Given the description of an element on the screen output the (x, y) to click on. 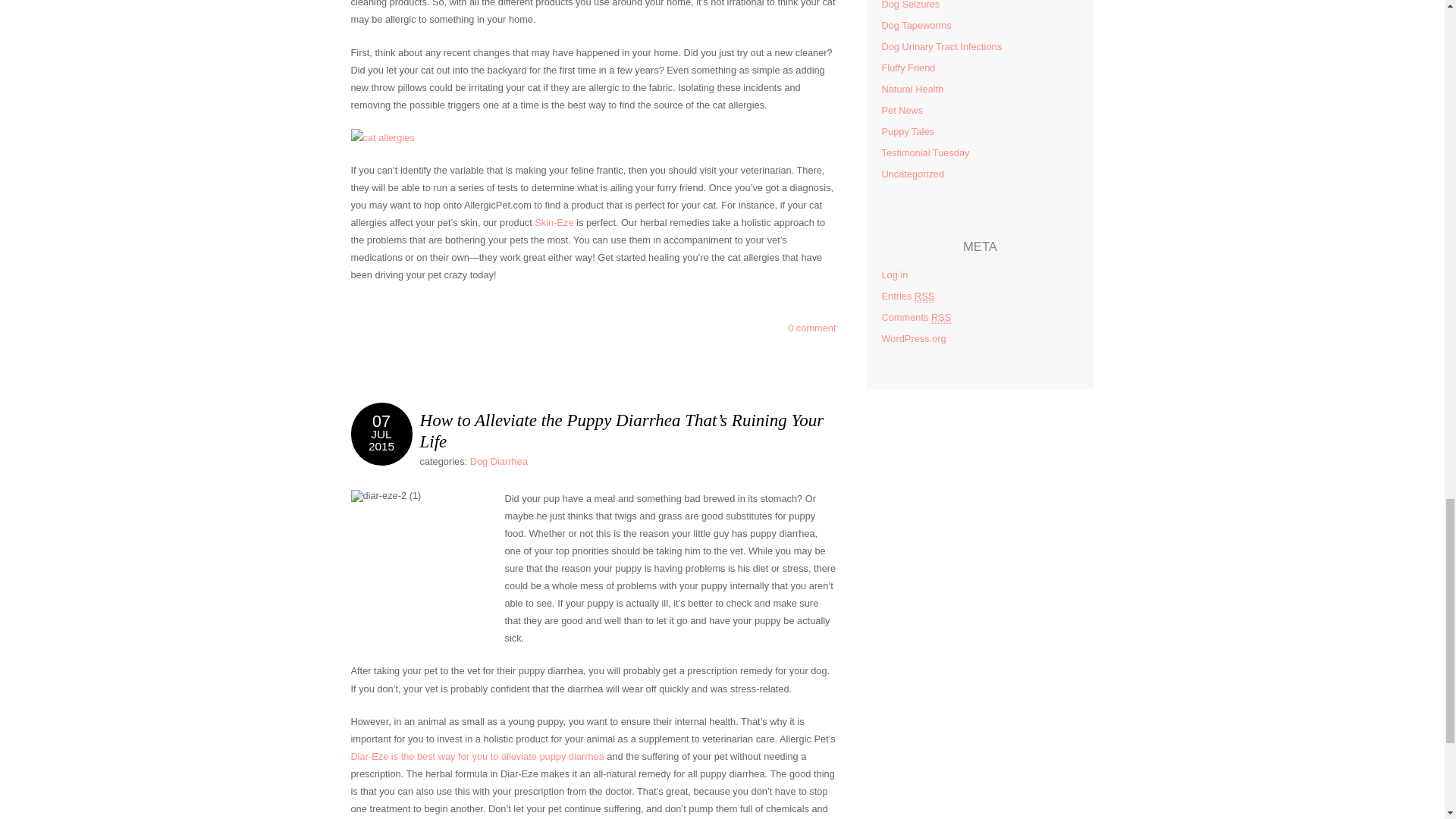
0 comment (811, 327)
Dog Diarrhea (381, 445)
Skin-Eze (498, 460)
Comment on How to Find Out if Mr. Jinxy has Cat Allergies (553, 222)
Really Simple Syndication (811, 327)
Really Simple Syndication (940, 317)
07 (924, 296)
Diar-Eze is the best way for you to alleviate puppy diarrhea (381, 421)
